Given the description of an element on the screen output the (x, y) to click on. 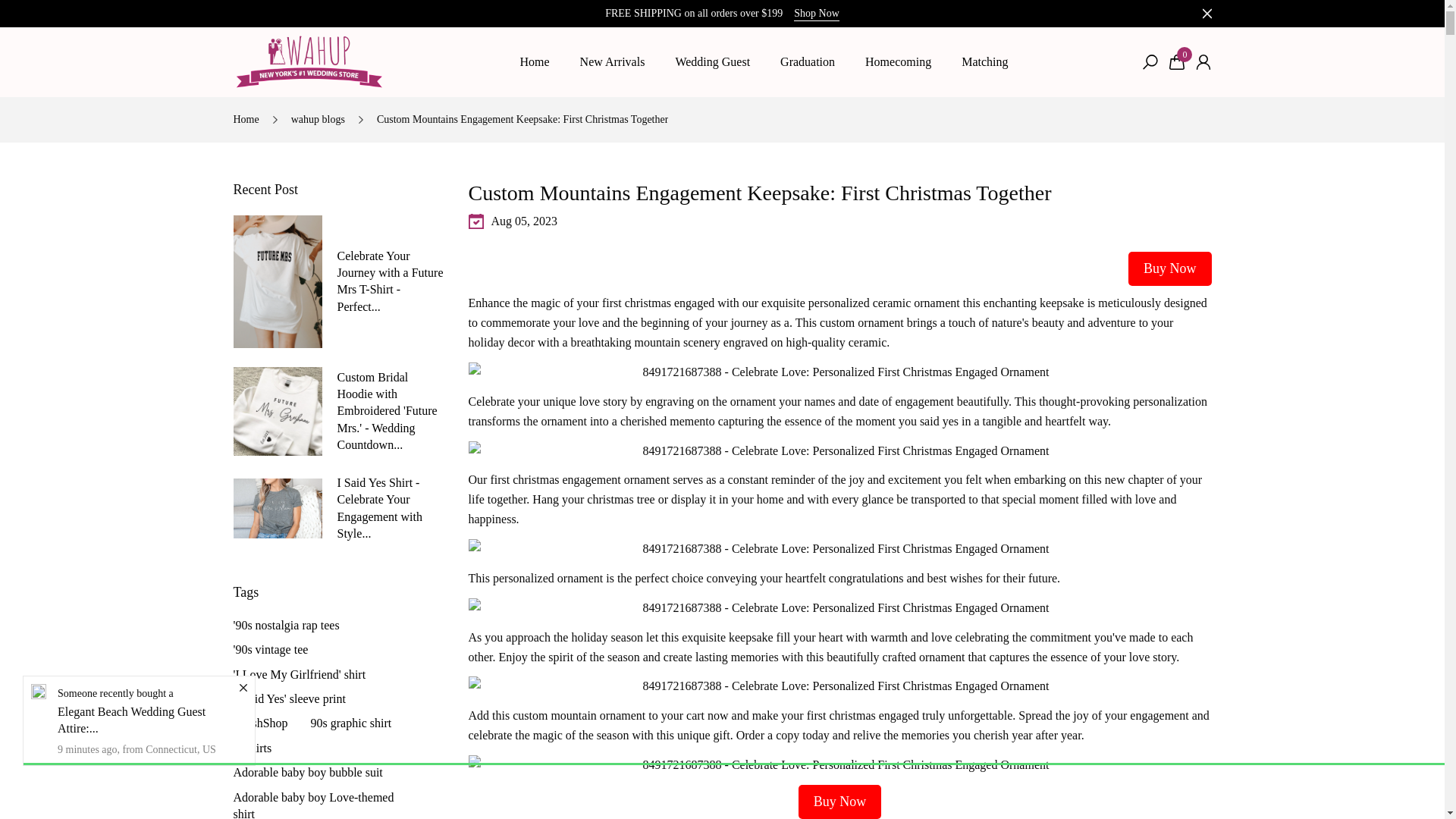
0 (1177, 61)
Wedding Guest (712, 62)
Homecoming (898, 62)
New Arrivals (612, 62)
Matching (984, 62)
Graduation (807, 62)
Shop Now (816, 13)
